Given the description of an element on the screen output the (x, y) to click on. 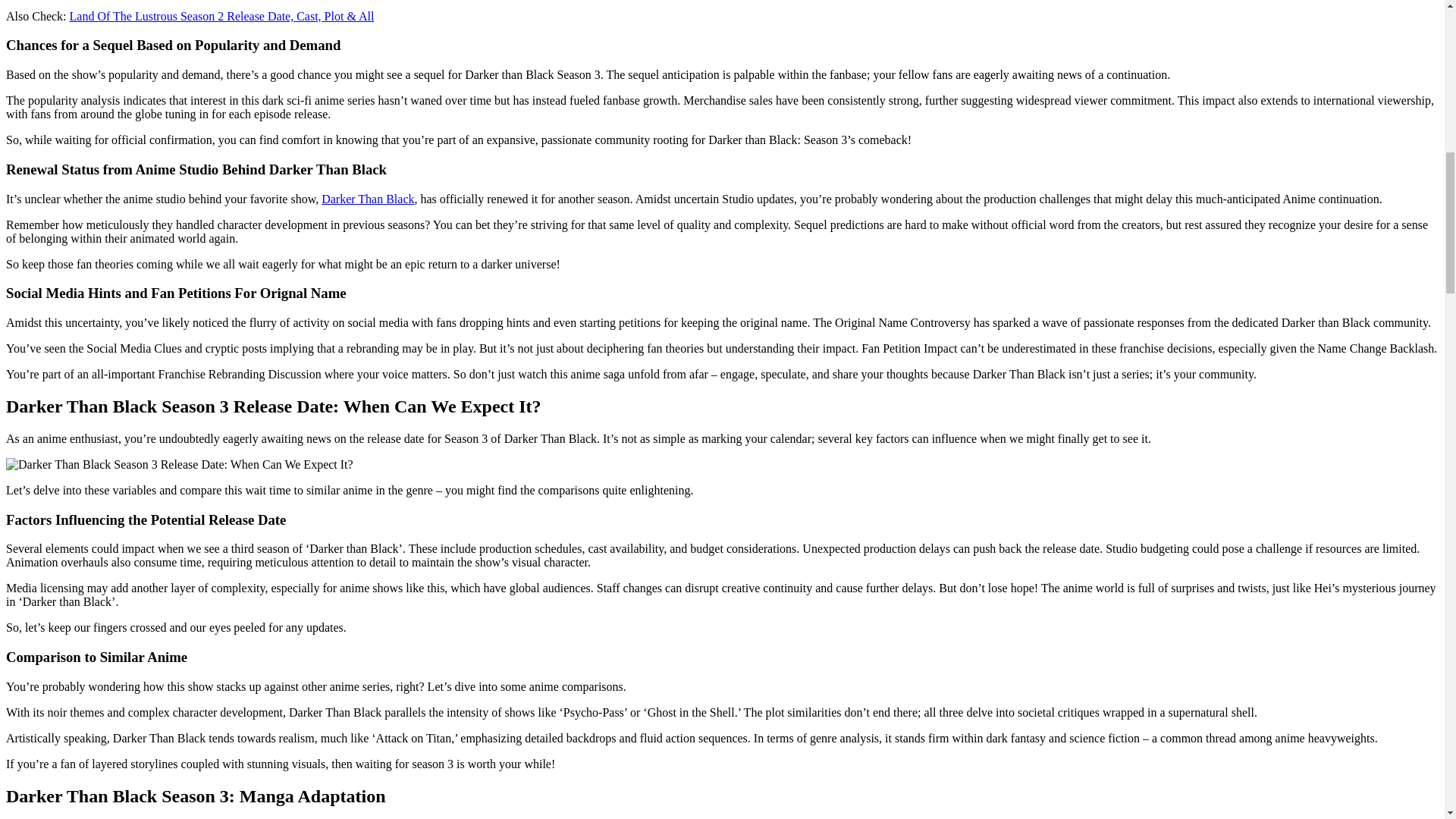
Darker Than Black (367, 198)
